Given the description of an element on the screen output the (x, y) to click on. 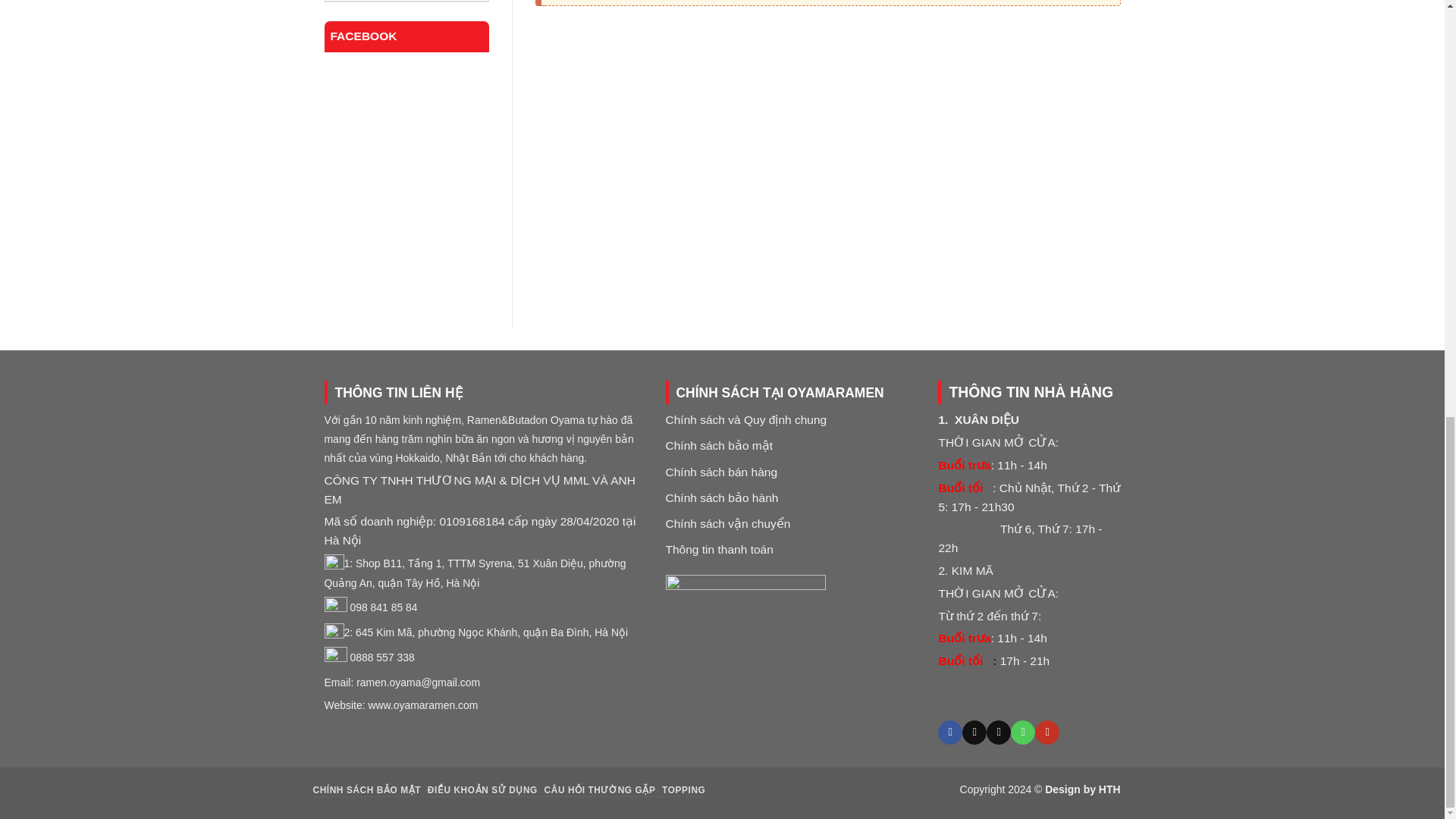
Call us (1022, 732)
Follow on TikTok (974, 732)
Follow on Facebook (949, 732)
Send us an email (998, 732)
